Given the description of an element on the screen output the (x, y) to click on. 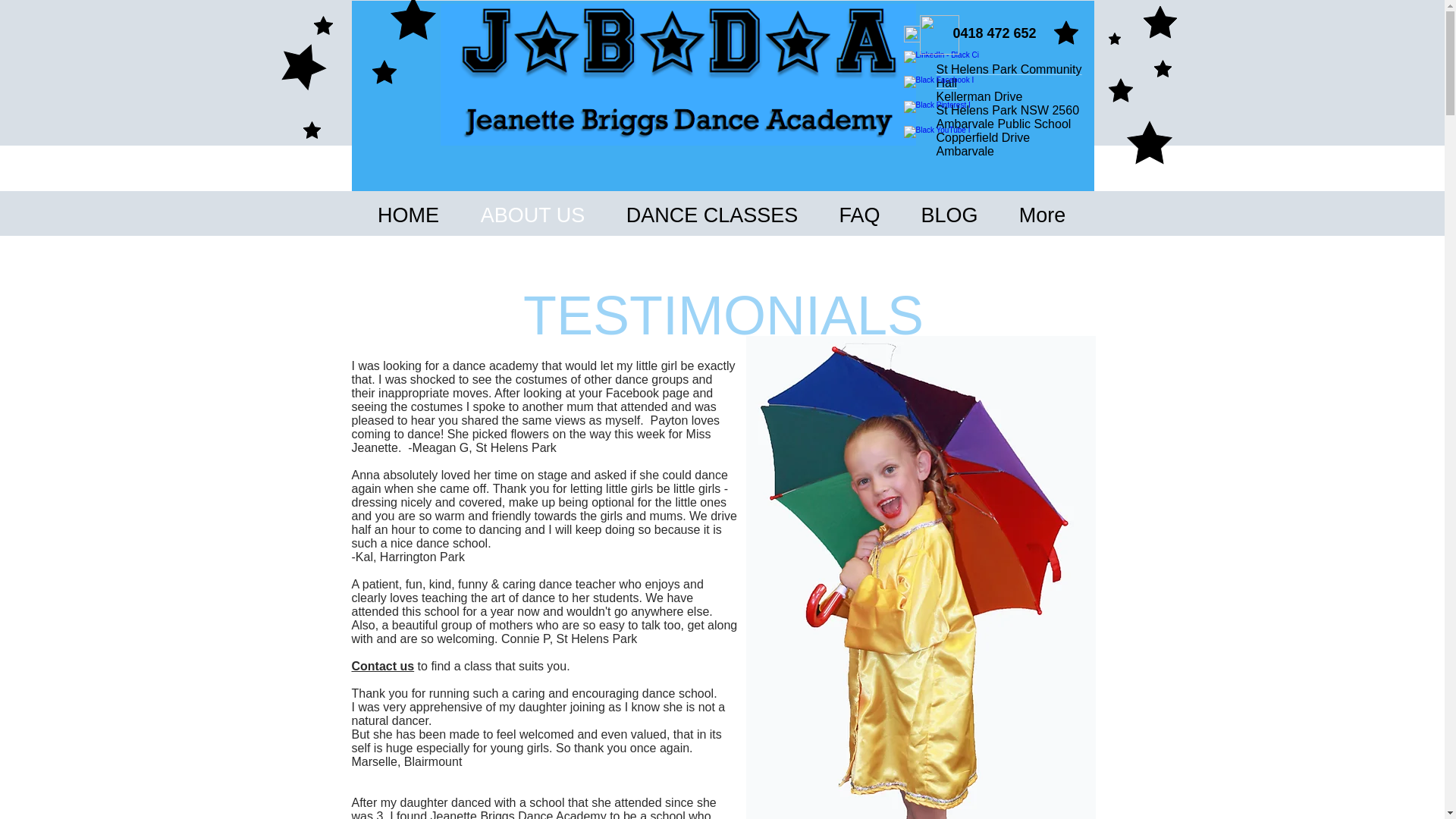
Contact us (383, 666)
ABOUT US (532, 212)
St Helens Park Community Hall (1008, 76)
FAQ (859, 212)
Jeanette Briggs Dance Academy.png (677, 74)
DANCE CLASSES (711, 212)
HOME (408, 212)
BLOG (949, 212)
